Given the description of an element on the screen output the (x, y) to click on. 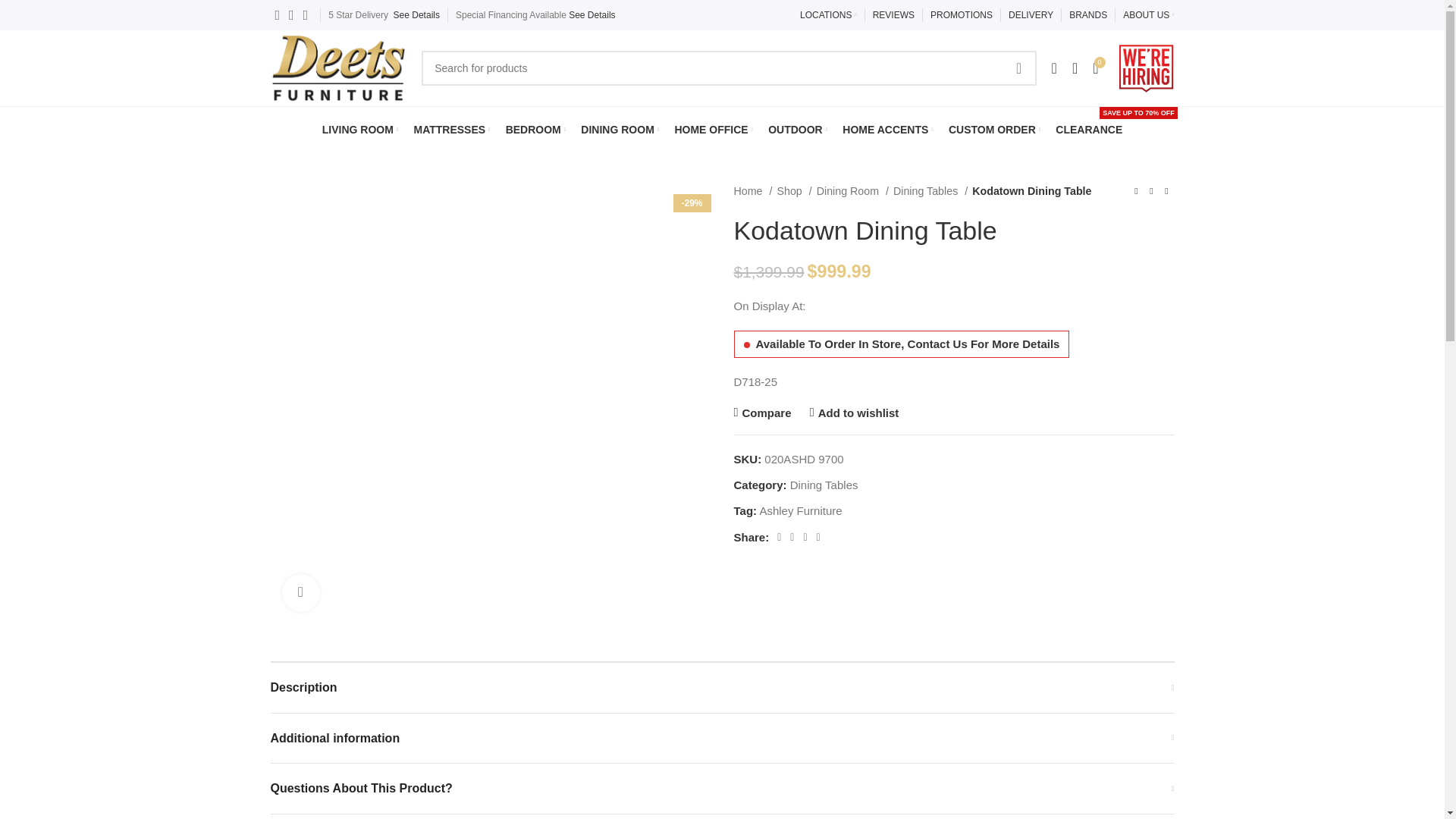
Log in (931, 331)
PROMOTIONS (961, 15)
BRANDS (1087, 15)
See Details (416, 14)
Search for products (728, 67)
LOCATIONS (828, 15)
We're Hiring (1146, 68)
SEARCH (1018, 67)
See Details (591, 14)
